Given the description of an element on the screen output the (x, y) to click on. 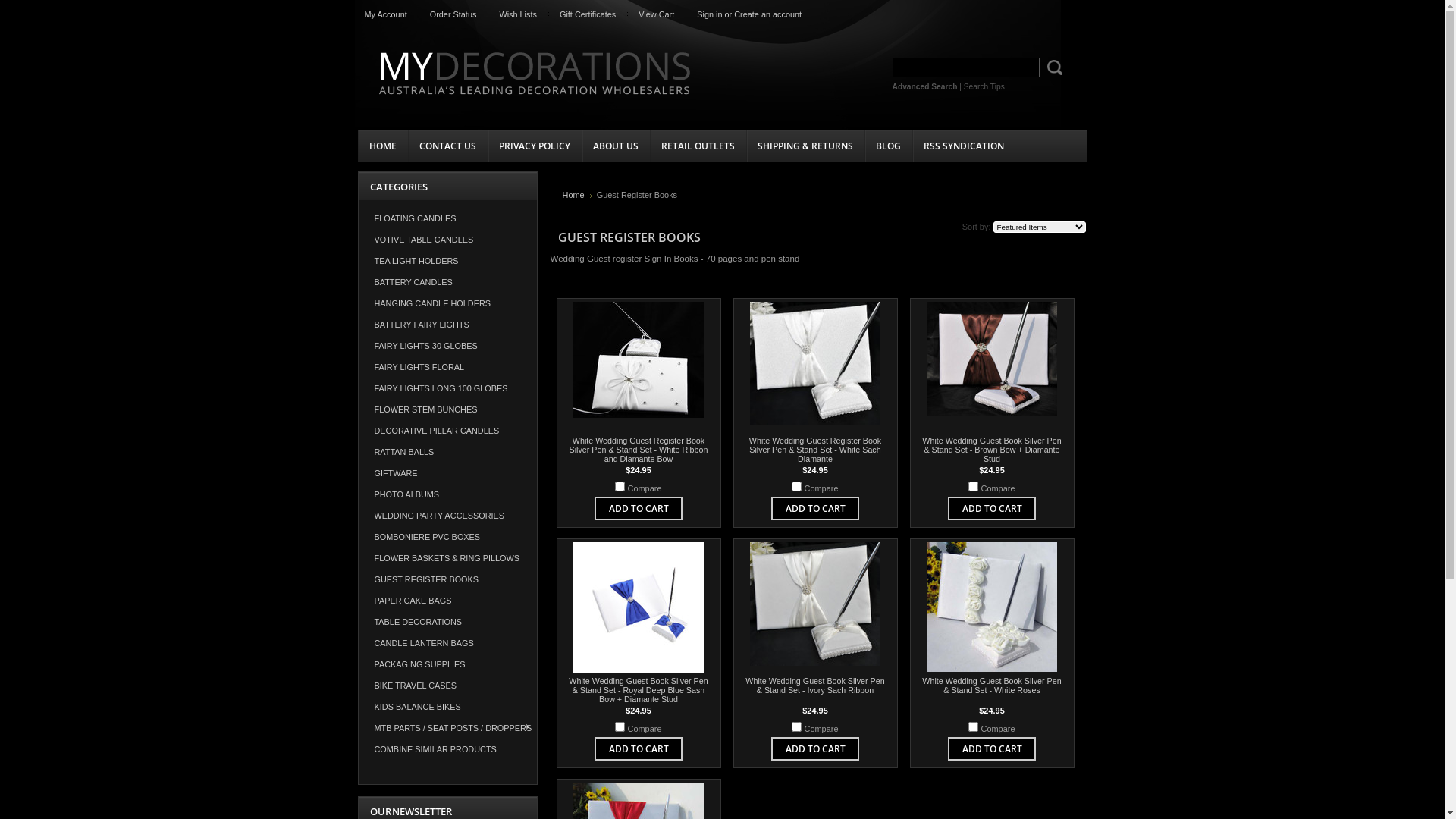
517 Element type: text (796, 726)
ADD TO CART Element type: text (638, 748)
ABOUT US Element type: text (614, 145)
BATTERY FAIRY LIGHTS Element type: text (446, 324)
CANDLE LANTERN BAGS Element type: text (446, 642)
CONTACT US Element type: text (447, 145)
Gift Certificates Element type: text (587, 13)
RETAIL OUTLETS Element type: text (697, 145)
PAPER CAKE BAGS Element type: text (446, 600)
BIKE TRAVEL CASES Element type: text (446, 685)
COMBINE SIMILAR PRODUCTS Element type: text (446, 748)
TEA LIGHT HOLDERS Element type: text (446, 260)
GUEST REGISTER BOOKS Element type: text (446, 578)
WEDDING PARTY ACCESSORIES Element type: text (446, 515)
FLOATING CANDLES Element type: text (446, 218)
744 Element type: text (973, 486)
FAIRY LIGHTS FLORAL Element type: text (446, 366)
FAIRY LIGHTS 30 GLOBES Element type: text (446, 345)
PRIVACY POLICY Element type: text (533, 145)
Order Status Element type: text (453, 13)
Home Element type: text (577, 194)
GIFTWARE Element type: text (446, 472)
View Cart Element type: text (656, 13)
FLOWER STEM BUNCHES Element type: text (446, 409)
PACKAGING SUPPLIES Element type: text (446, 663)
ADD TO CART Element type: text (991, 508)
RATTAN BALLS Element type: text (446, 451)
My Account Element type: text (385, 13)
Advanced Search Element type: text (924, 86)
514 Element type: text (973, 726)
Sign in Element type: text (708, 13)
BLOG Element type: text (888, 145)
Wish Lists Element type: text (517, 13)
ADD TO CART Element type: text (991, 748)
PHOTO ALBUMS Element type: text (446, 494)
908 Element type: text (619, 486)
DECORATIVE PILLAR CANDLES Element type: text (446, 430)
VOTIVE TABLE CANDLES Element type: text (446, 239)
Search Tips Element type: text (983, 86)
ADD TO CART Element type: text (638, 508)
HANGING CANDLE HOLDERS Element type: text (446, 302)
BATTERY CANDLES Element type: text (446, 281)
ADD TO CART Element type: text (815, 748)
Create an account Element type: text (767, 13)
FAIRY LIGHTS LONG 100 GLOBES Element type: text (446, 387)
743 Element type: text (619, 726)
BOMBONIERE PVC BOXES Element type: text (446, 536)
HOME Element type: text (382, 145)
ADD TO CART Element type: text (815, 508)
SHIPPING & RETURNS Element type: text (805, 145)
TABLE DECORATIONS Element type: text (446, 621)
KIDS BALANCE BIKES Element type: text (446, 706)
FLOWER BASKETS & RING PILLOWS Element type: text (446, 557)
907 Element type: text (796, 486)
RSS SYNDICATION Element type: text (962, 145)
